Given the description of an element on the screen output the (x, y) to click on. 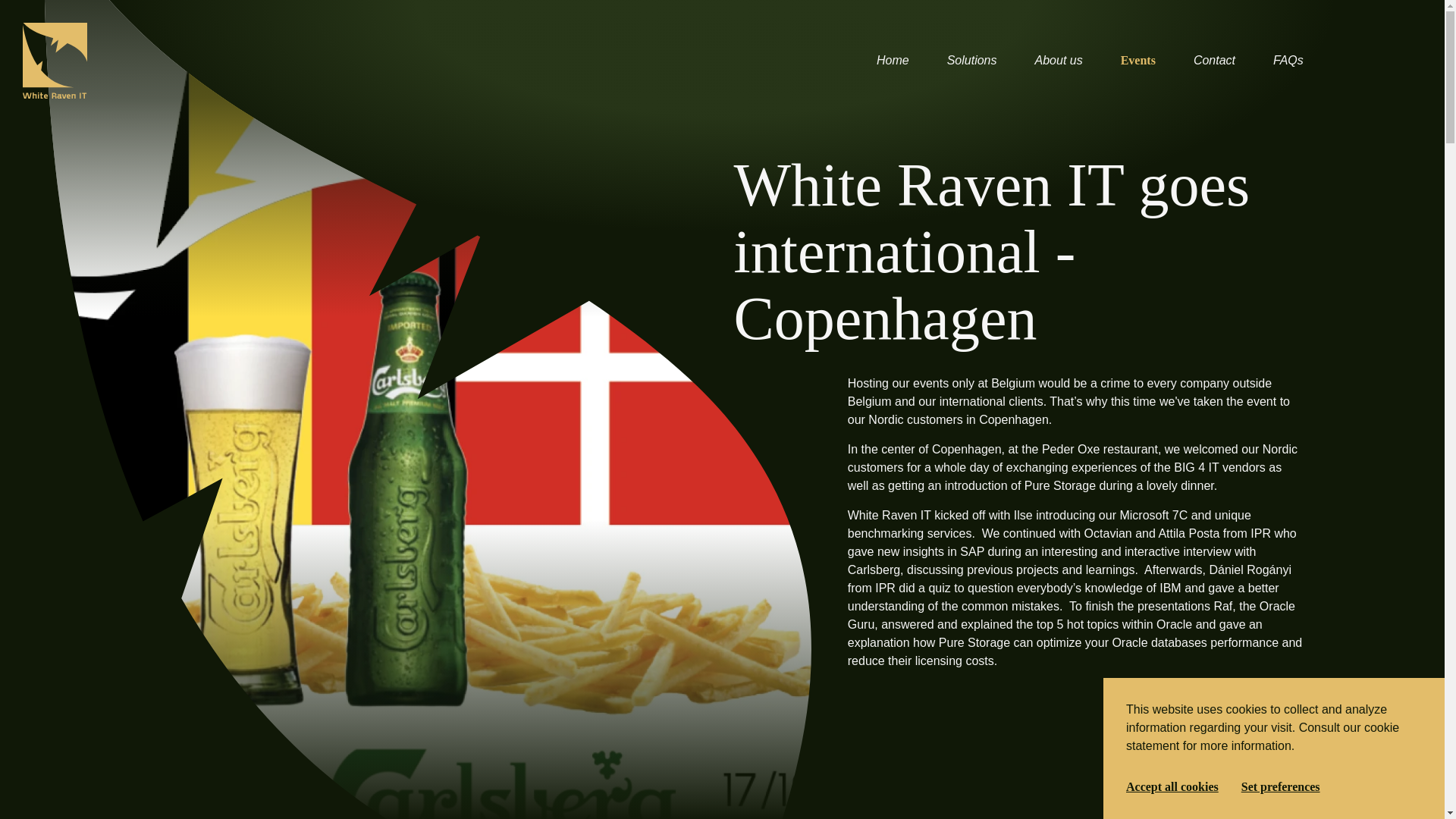
Home (892, 60)
Solutions (972, 60)
About us (1059, 60)
Contact (1213, 60)
FAQs (1287, 60)
Set preferences (1280, 787)
Events (1138, 60)
Accept all cookies (1171, 787)
